Given the description of an element on the screen output the (x, y) to click on. 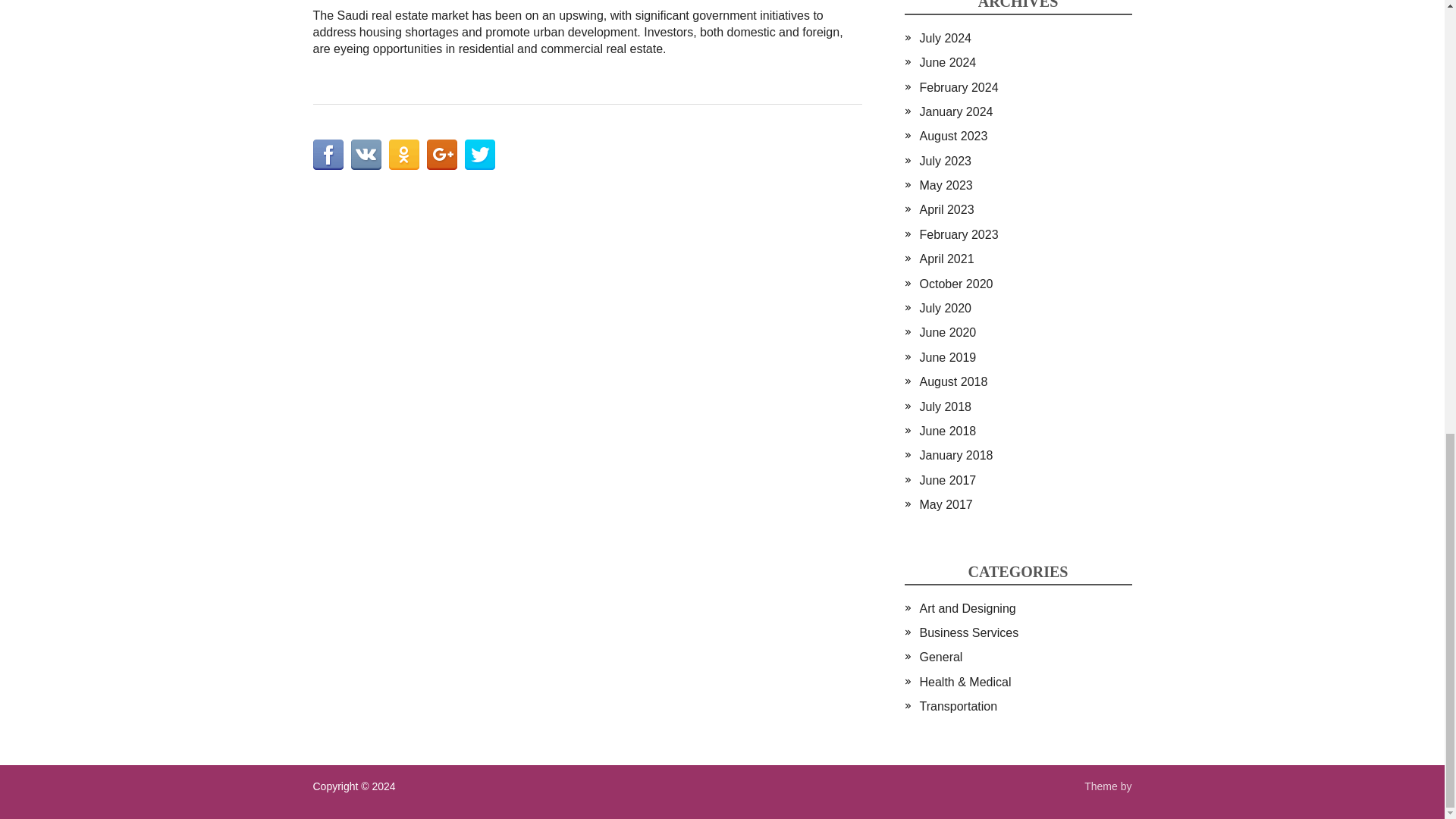
August 2023 (952, 135)
Share in VK (365, 154)
July 2024 (944, 38)
Share in Twitter (479, 154)
Share in OK (403, 154)
February 2024 (957, 87)
April 2023 (946, 209)
June 2024 (946, 62)
January 2024 (955, 111)
July 2023 (944, 160)
May 2023 (945, 185)
Share in Facebook (327, 154)
